Given the description of an element on the screen output the (x, y) to click on. 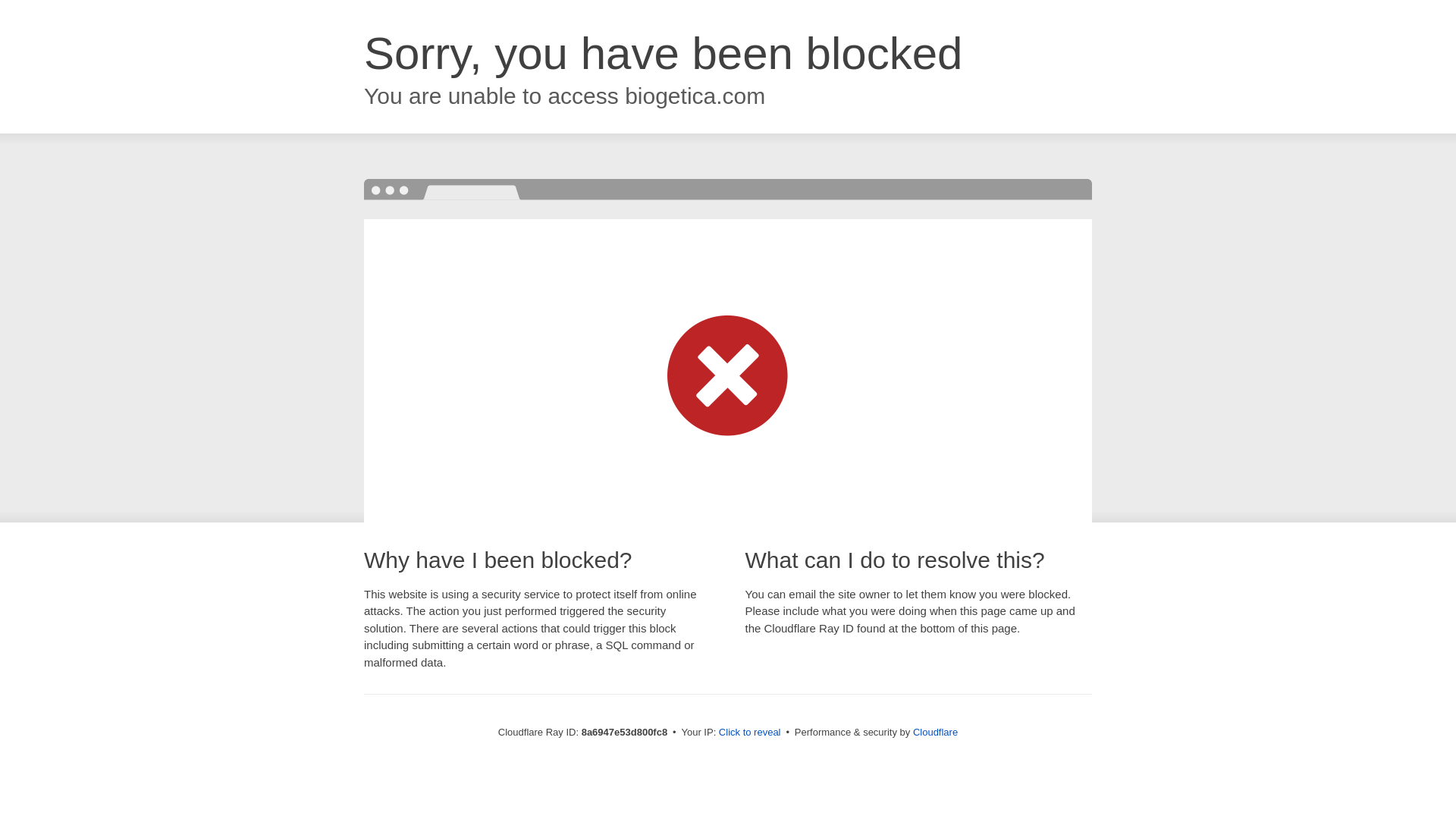
Click to reveal (749, 732)
Cloudflare (935, 731)
